Given the description of an element on the screen output the (x, y) to click on. 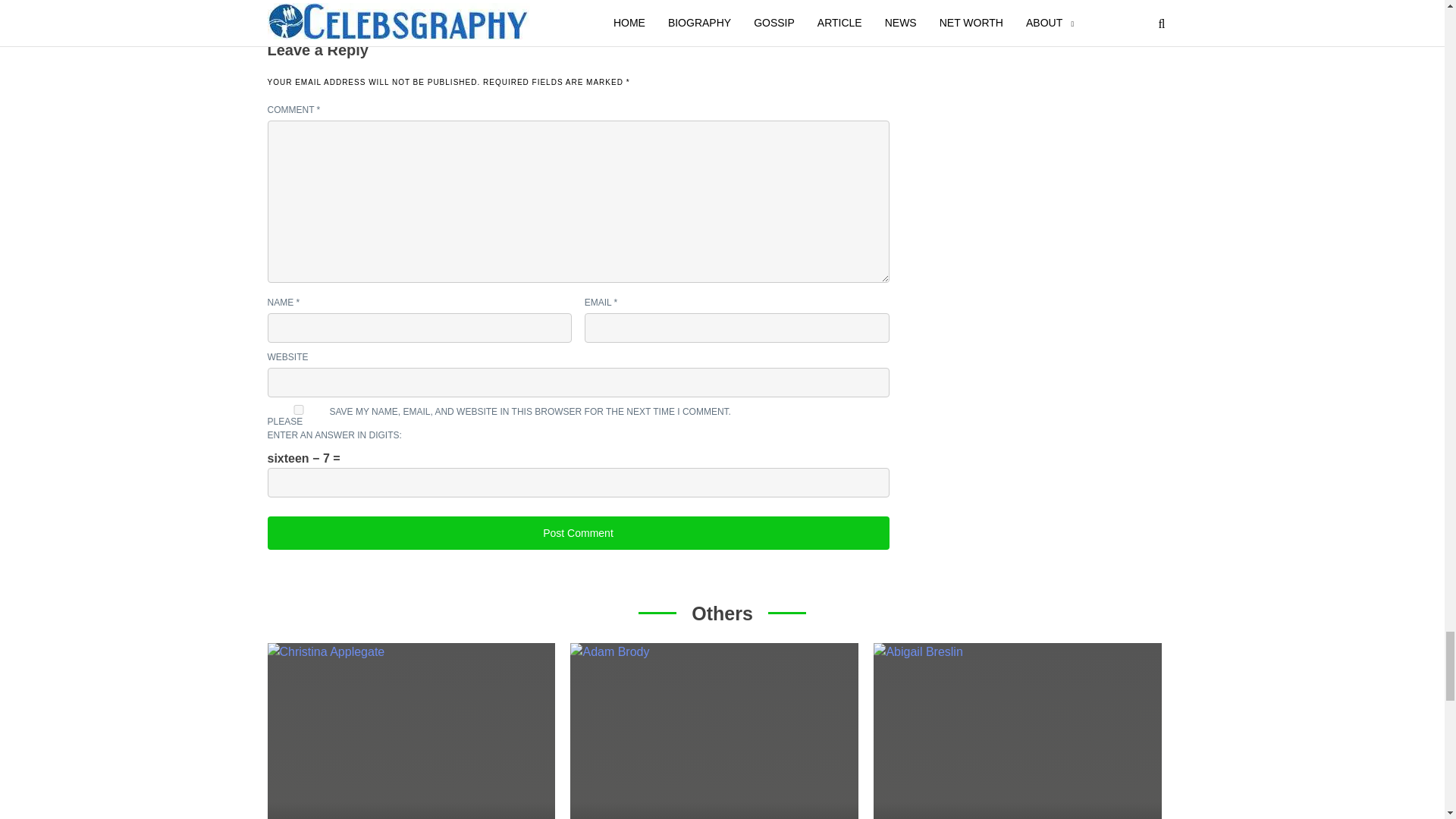
yes (297, 409)
Post Comment (577, 532)
